Given the description of an element on the screen output the (x, y) to click on. 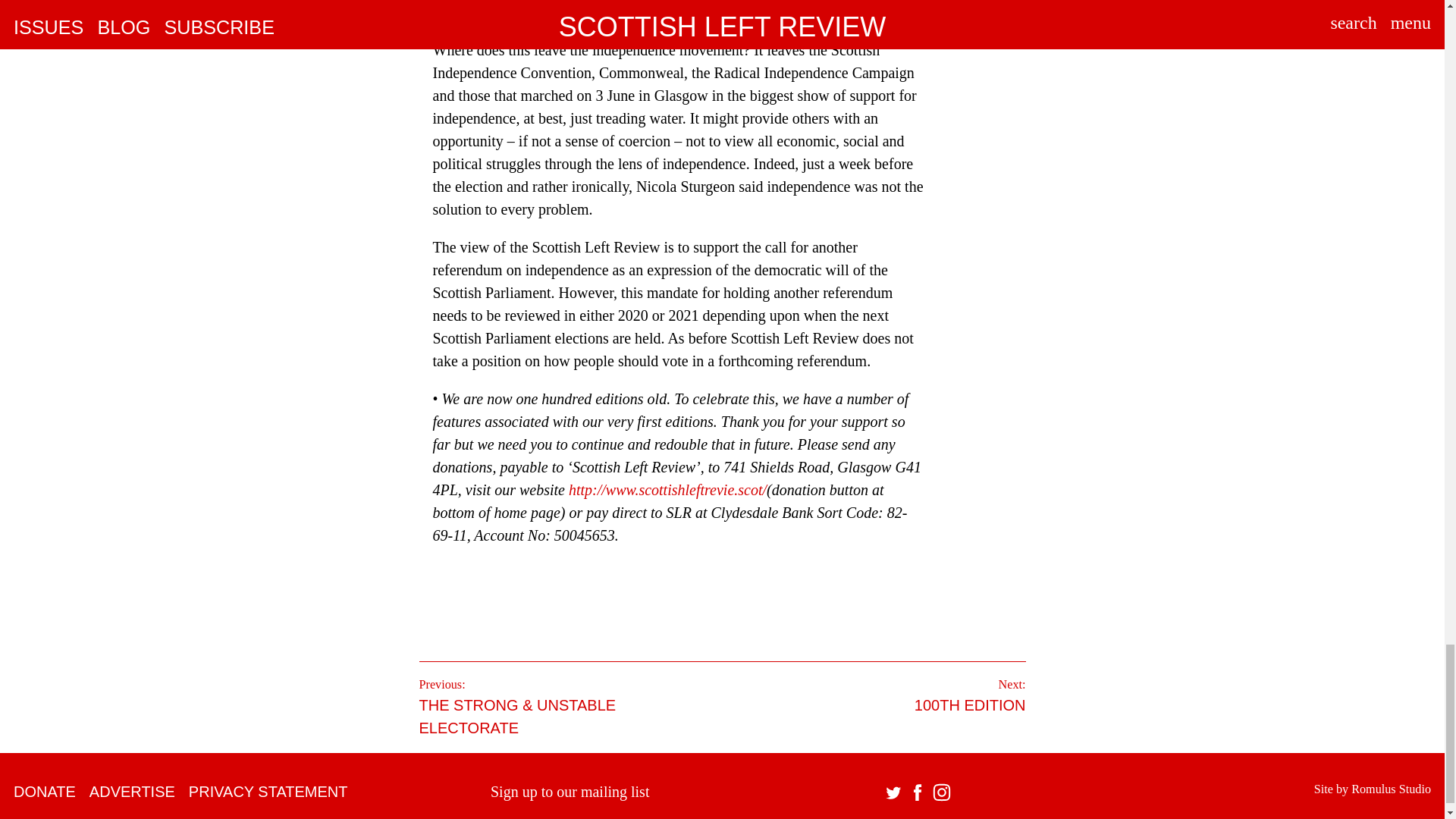
PRIVACY STATEMENT (268, 791)
Romulus Studio (1391, 789)
ADVERTISE (131, 791)
DONATE (44, 791)
